Given the description of an element on the screen output the (x, y) to click on. 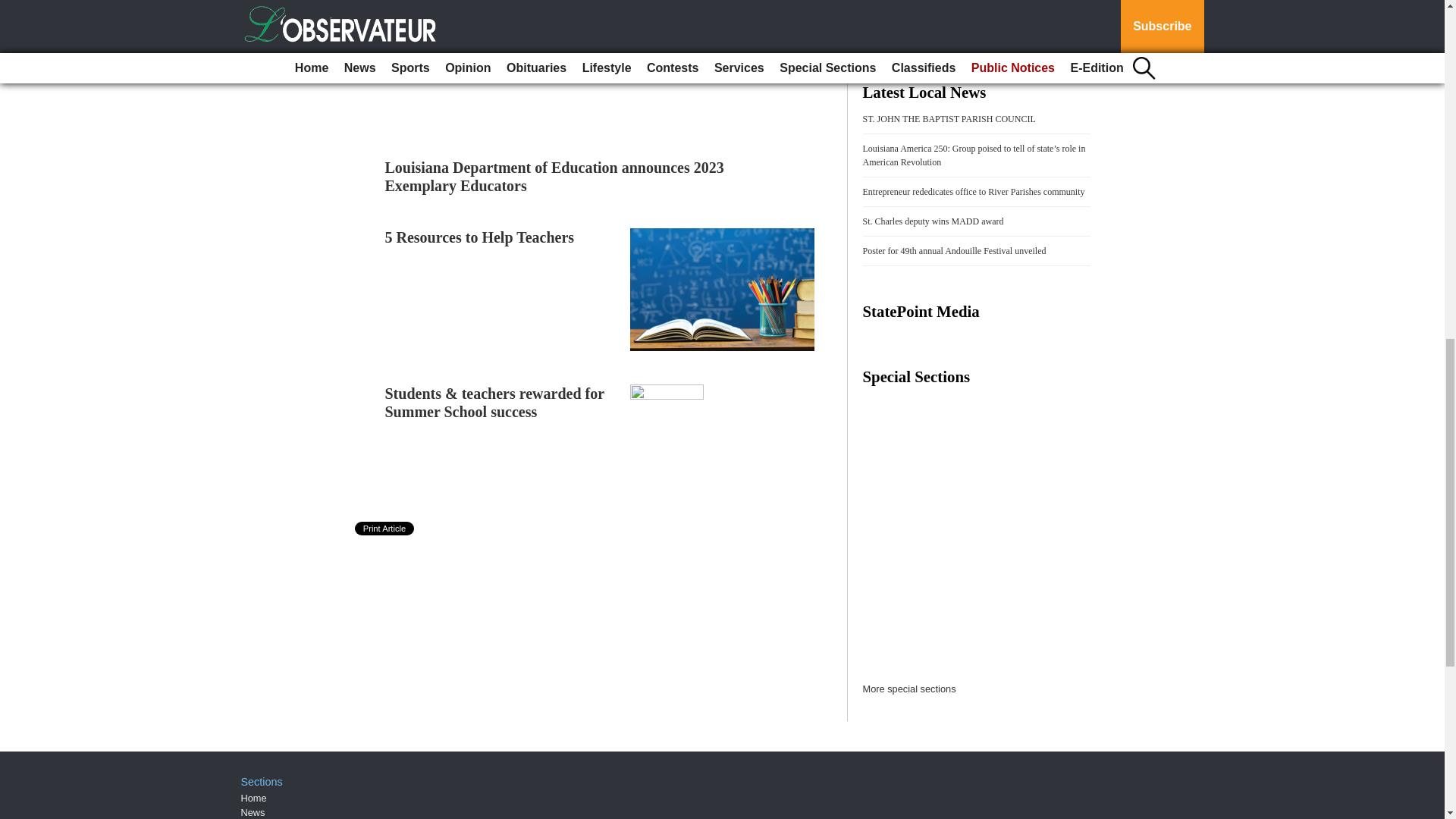
St. Charles deputy wins MADD award (933, 221)
5 Resources to Help Teachers (480, 237)
Print Article (384, 528)
School Board addresses backlog of teacher certifications (496, 42)
5 Resources to Help Teachers (480, 237)
Tickets (908, 11)
Entrepreneur rededicates office to River Parishes community (973, 191)
School Board addresses backlog of teacher certifications (496, 42)
ST. JOHN THE BAPTIST PARISH COUNCIL (949, 118)
